Given the description of an element on the screen output the (x, y) to click on. 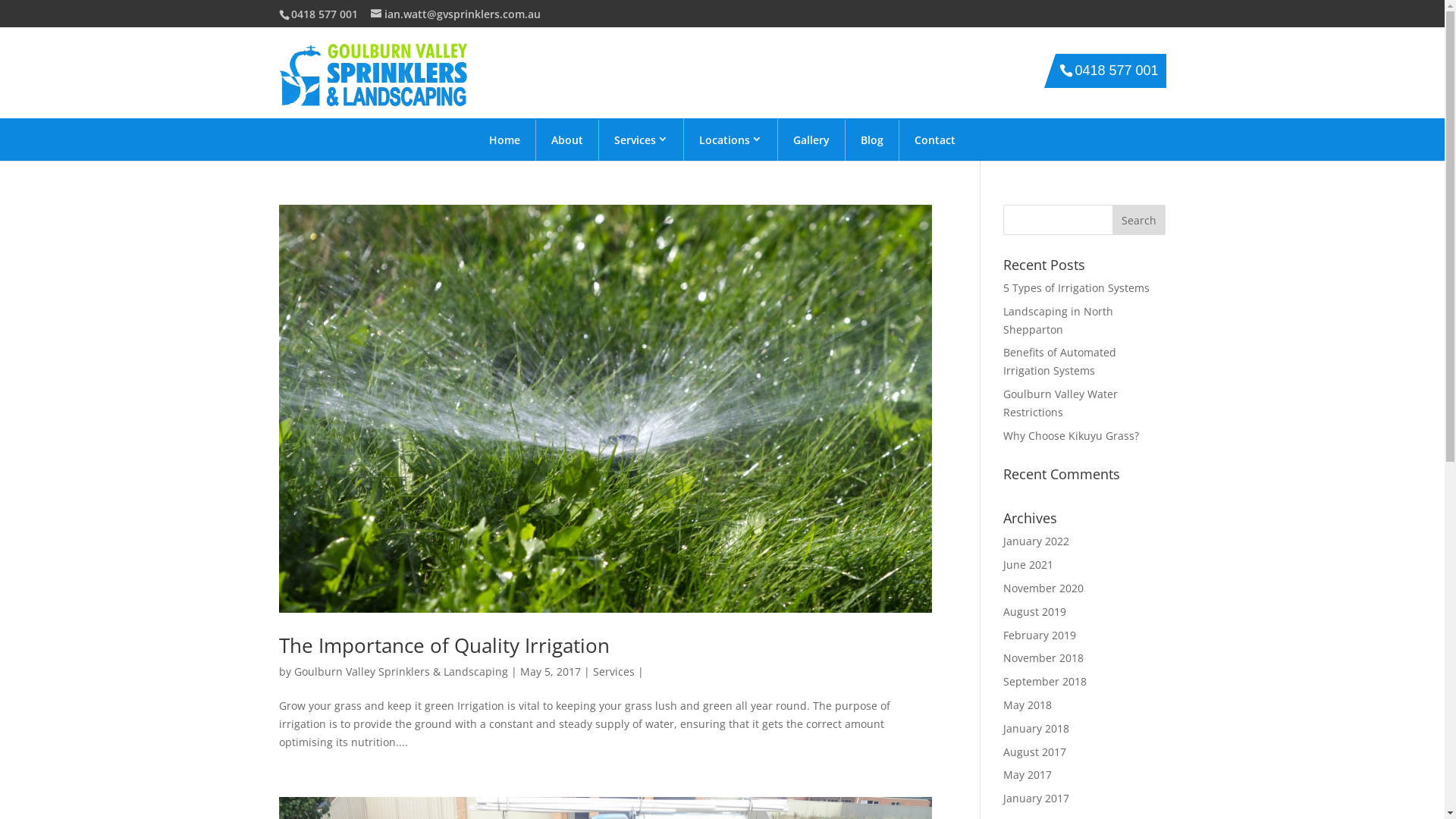
November 2018 Element type: text (1043, 657)
Blog Element type: text (871, 139)
January 2022 Element type: text (1036, 540)
Landscaping in North Shepparton Element type: text (1058, 320)
June 2021 Element type: text (1028, 564)
About Element type: text (567, 139)
May 2018 Element type: text (1027, 704)
Gallery Element type: text (811, 139)
May 2017 Element type: text (1027, 774)
September 2018 Element type: text (1044, 681)
ian.watt@gvsprinklers.com.au Element type: text (454, 13)
Contact Element type: text (934, 139)
February 2019 Element type: text (1039, 634)
Services Element type: text (641, 139)
Benefits of Automated Irrigation Systems Element type: text (1059, 361)
August 2017 Element type: text (1034, 751)
November 2020 Element type: text (1043, 587)
5 Types of Irrigation Systems Element type: text (1076, 287)
Search Element type: text (1138, 219)
Locations Element type: text (730, 139)
August 2019 Element type: text (1034, 611)
January 2017 Element type: text (1036, 797)
Goulburn Valley Sprinklers & Landscaping Element type: text (401, 671)
Why Choose Kikuyu Grass? Element type: text (1071, 435)
0418 577 001 Element type: text (1115, 70)
Home Element type: text (504, 139)
Services Element type: text (613, 671)
The Importance of Quality Irrigation Element type: text (444, 644)
Goulburn Valley Water Restrictions Element type: text (1060, 402)
January 2018 Element type: text (1036, 728)
